Given the description of an element on the screen output the (x, y) to click on. 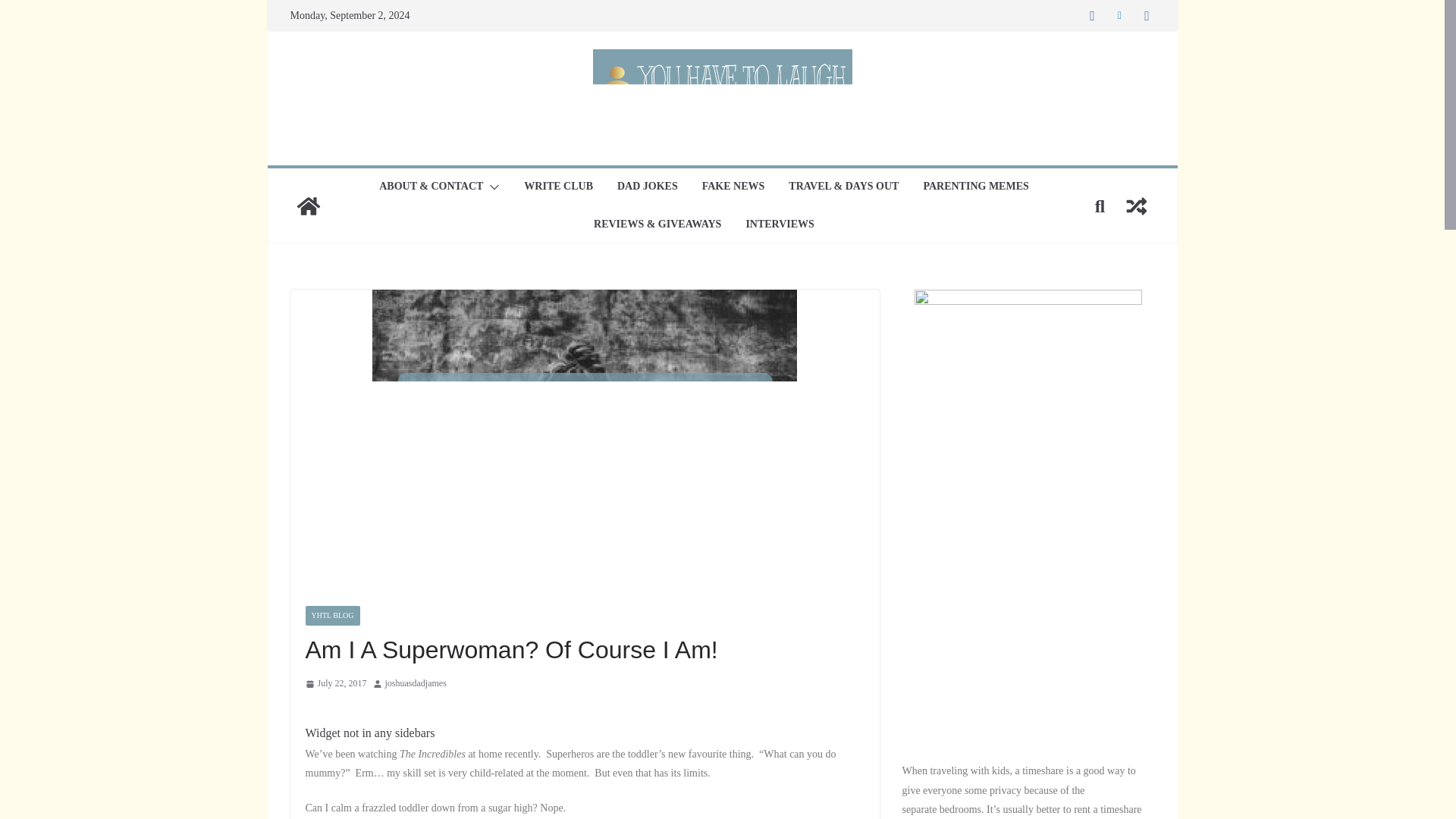
July 22, 2017 (335, 683)
YHTL BLOG (331, 615)
WRITE CLUB (558, 187)
12:29 am (335, 683)
DAD JOKES (647, 187)
You Have To Laugh (307, 206)
INTERVIEWS (779, 224)
View a random post (1136, 206)
joshuasdadjames (415, 683)
FAKE NEWS (733, 187)
